Given the description of an element on the screen output the (x, y) to click on. 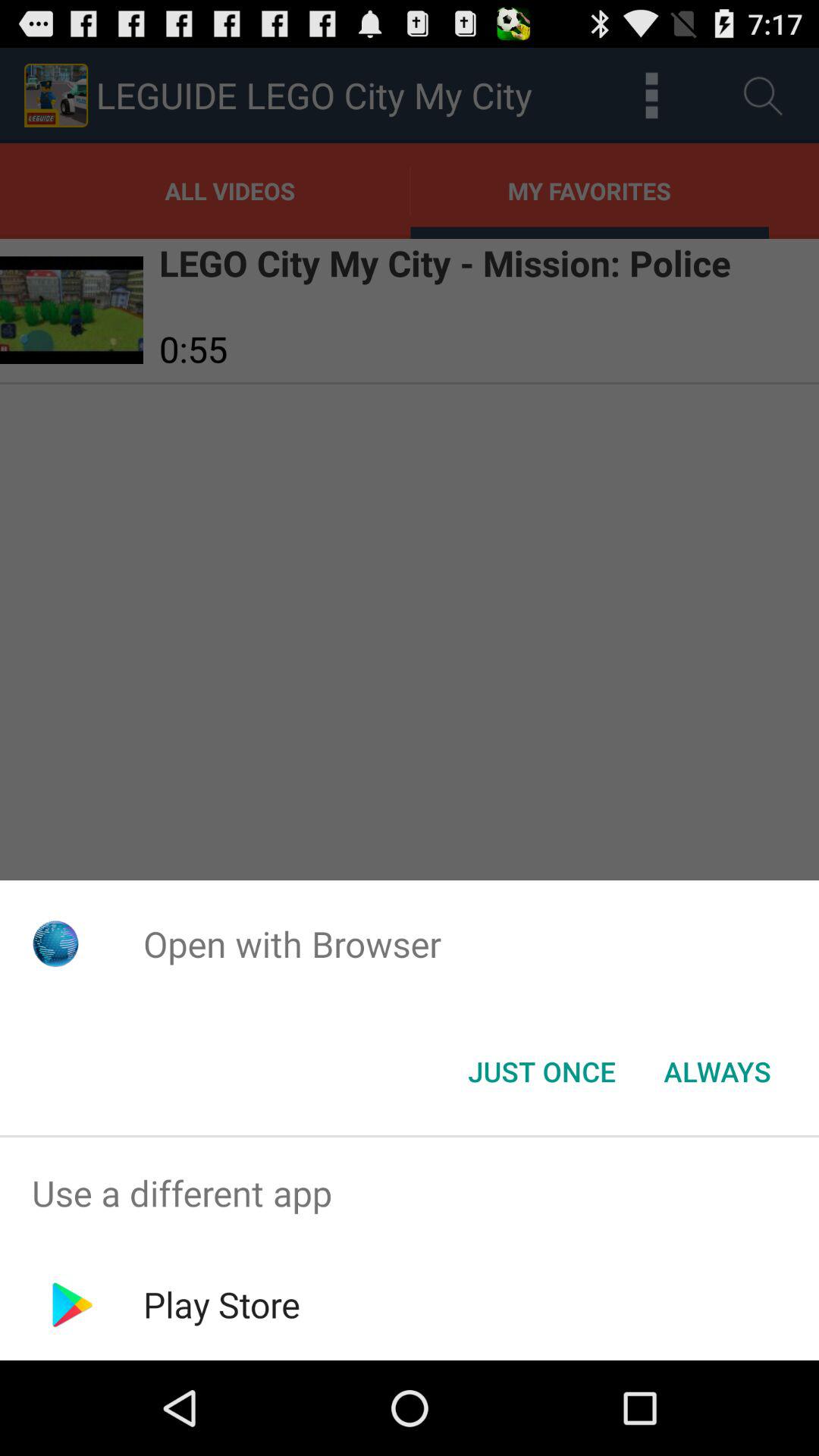
click the icon below use a different item (221, 1304)
